Given the description of an element on the screen output the (x, y) to click on. 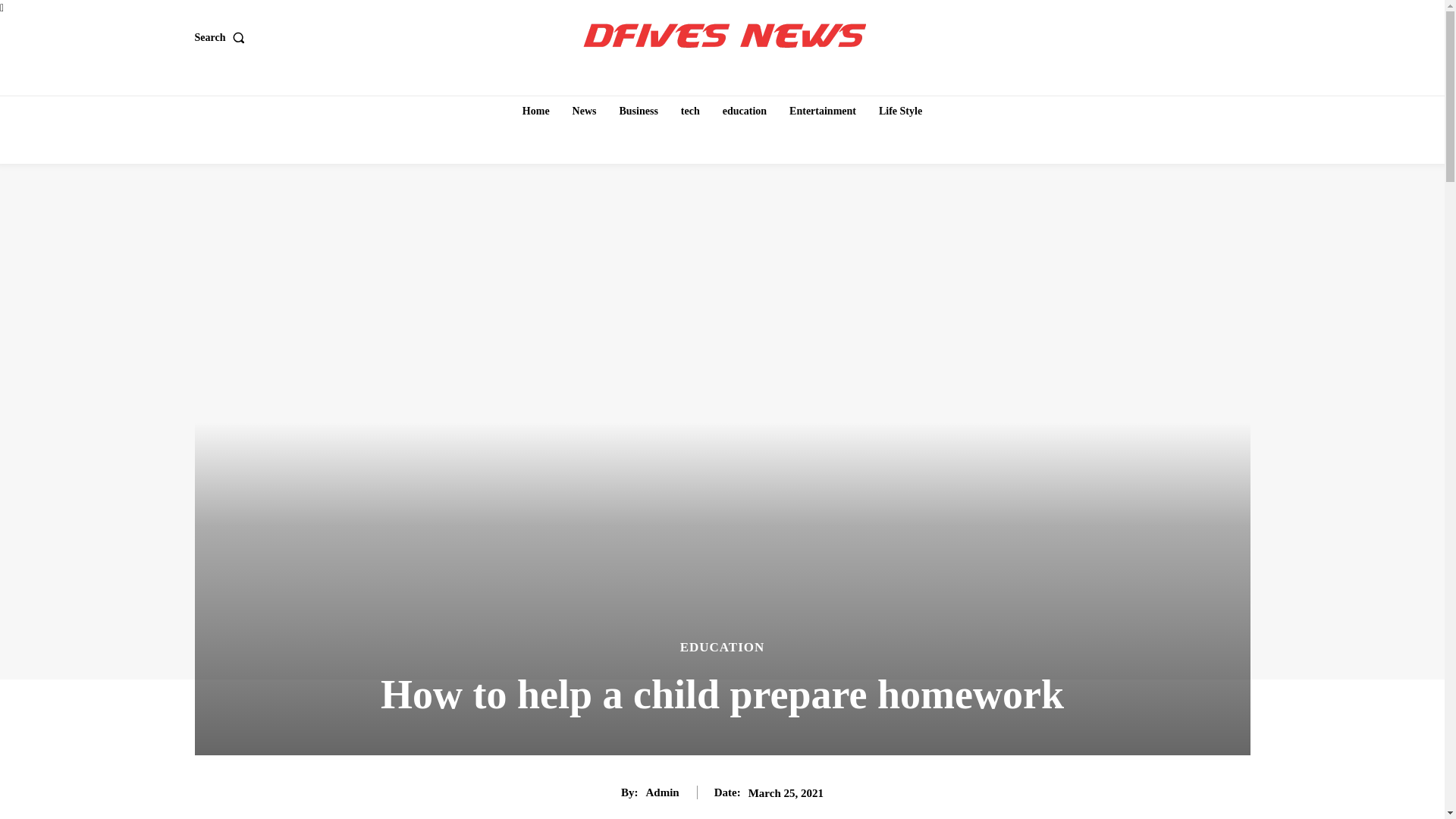
Entertainment (822, 111)
Home (536, 111)
Business (638, 111)
Admin (662, 792)
Life Style (900, 111)
Search (221, 37)
EDUCATION (722, 646)
tech (689, 111)
News (584, 111)
education (744, 111)
